Given the description of an element on the screen output the (x, y) to click on. 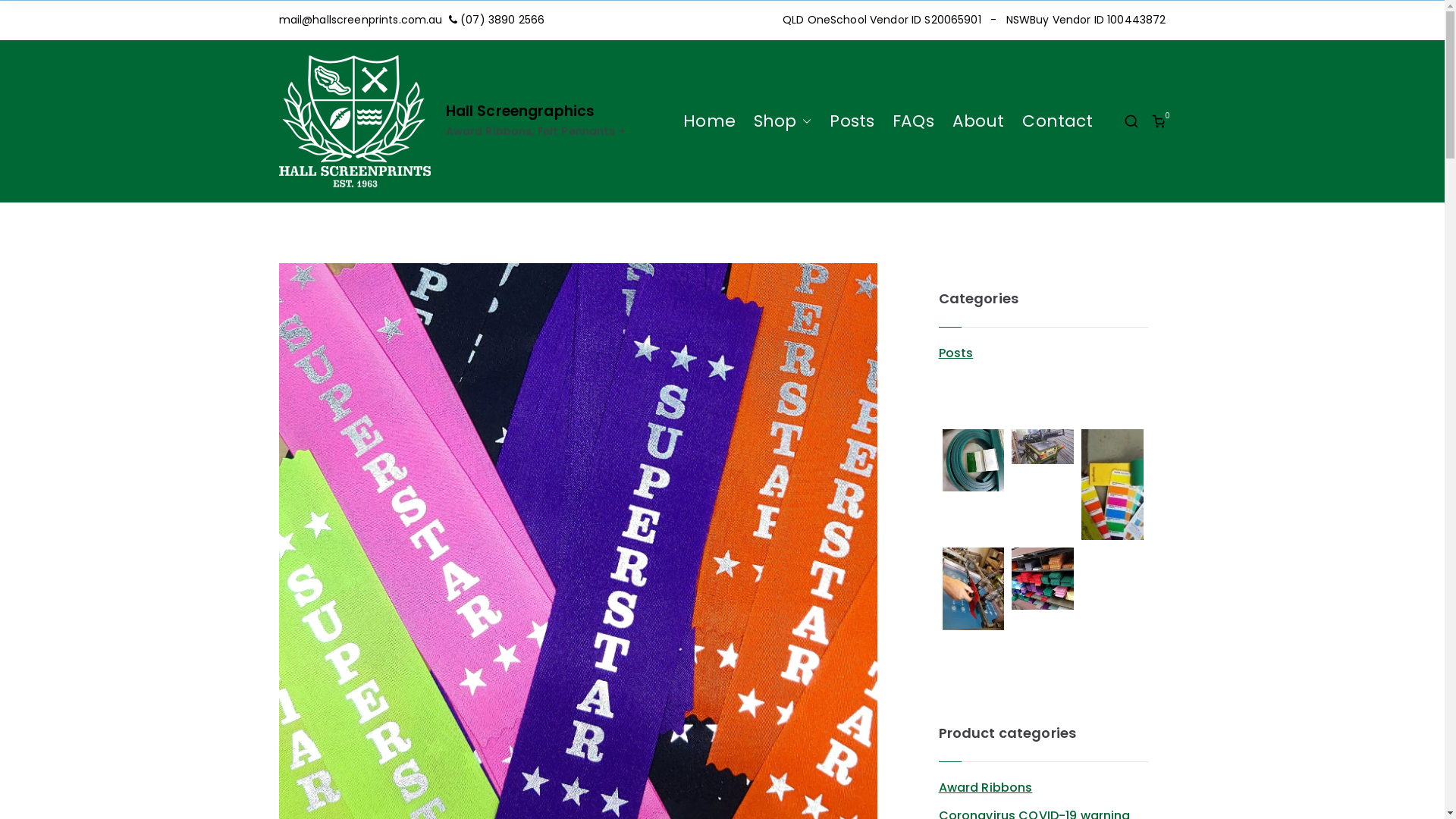
Hall Screengraphics Element type: text (520, 110)
Search Element type: text (26, 14)
FAQs Element type: text (913, 121)
Award Ribbons Element type: text (985, 787)
Posts Element type: text (955, 352)
Posts Element type: text (851, 121)
Contact Element type: text (1057, 121)
Home Element type: text (709, 121)
Shop Element type: text (782, 121)
About Element type: text (978, 121)
(07) 3890 2566 Element type: text (502, 19)
mail@hallscreenprints.com.au Element type: text (360, 19)
0 Element type: text (1158, 120)
